Given the description of an element on the screen output the (x, y) to click on. 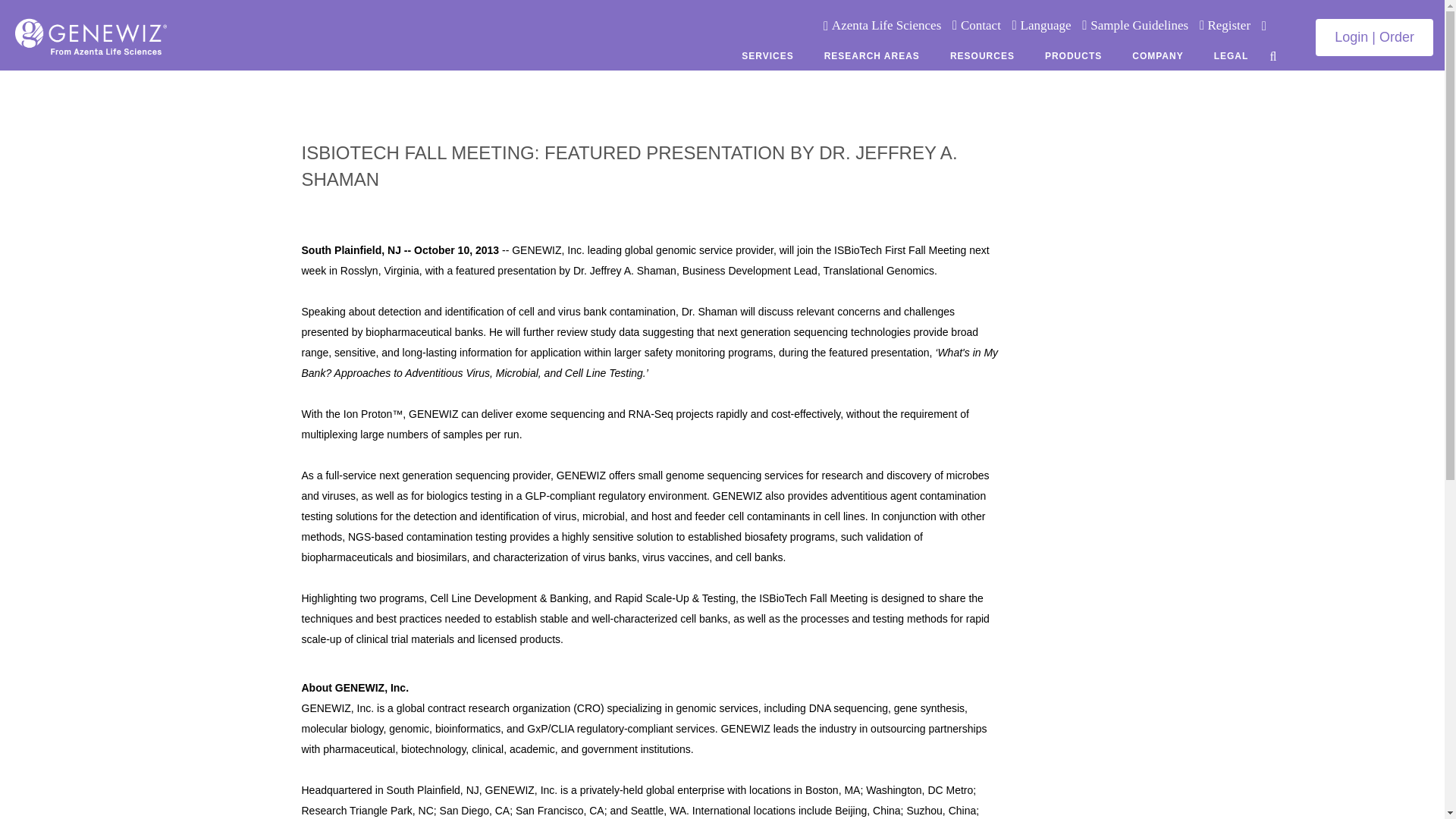
SERVICES (767, 55)
Register (1227, 25)
Sample Guidelines (1139, 25)
Contact (980, 25)
Language (1045, 25)
Azenta Life Sciences (885, 25)
